Given the description of an element on the screen output the (x, y) to click on. 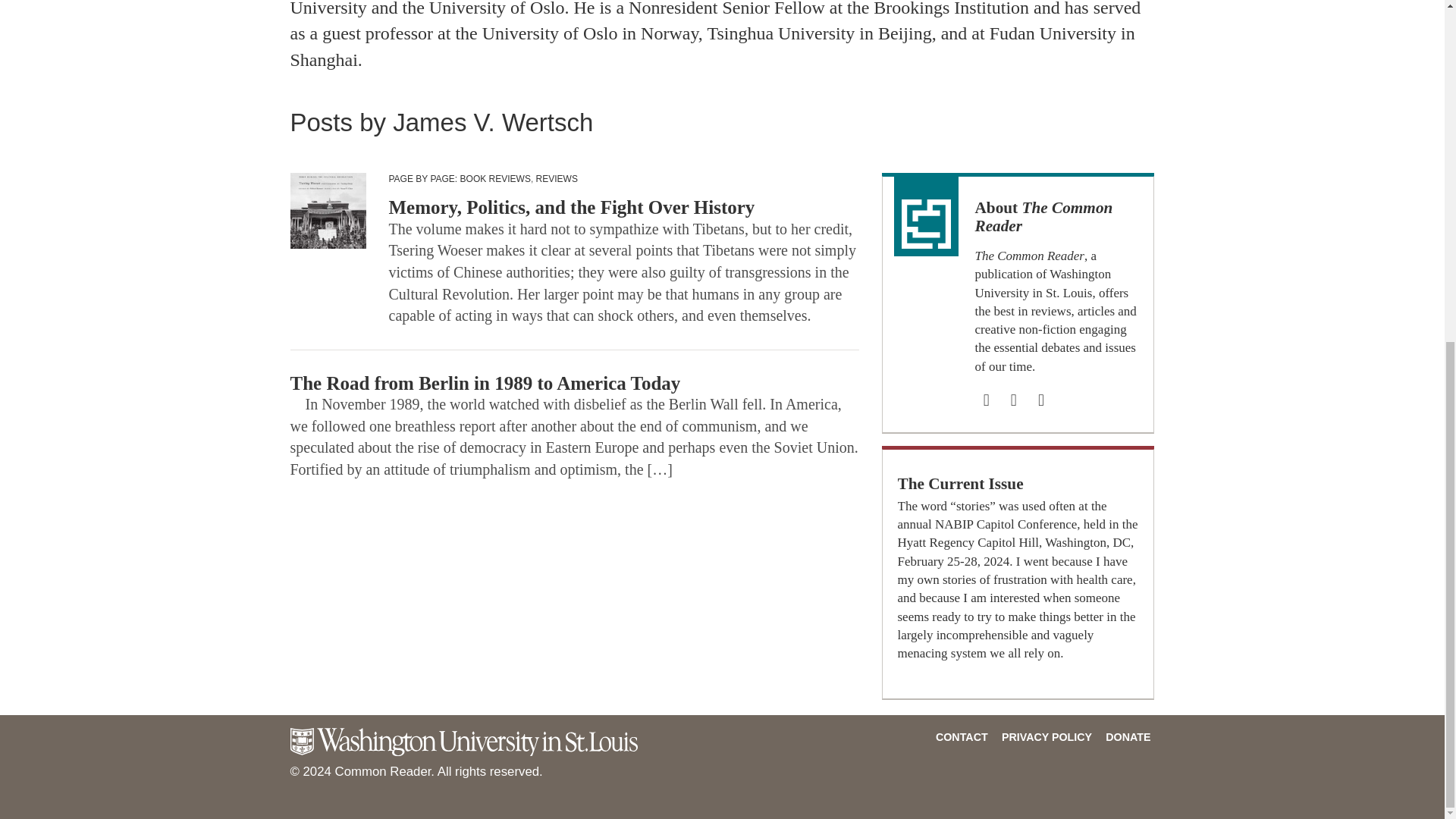
The Current Issue (960, 484)
CONTACT (962, 736)
DONATE (1127, 736)
PAGE BY PAGE: BOOK REVIEWS (458, 178)
The Road from Berlin in 1989 to America Today (484, 383)
Memory, Politics, and the Fight Over History (571, 207)
PRIVACY POLICY (1046, 736)
REVIEWS (556, 178)
